Given the description of an element on the screen output the (x, y) to click on. 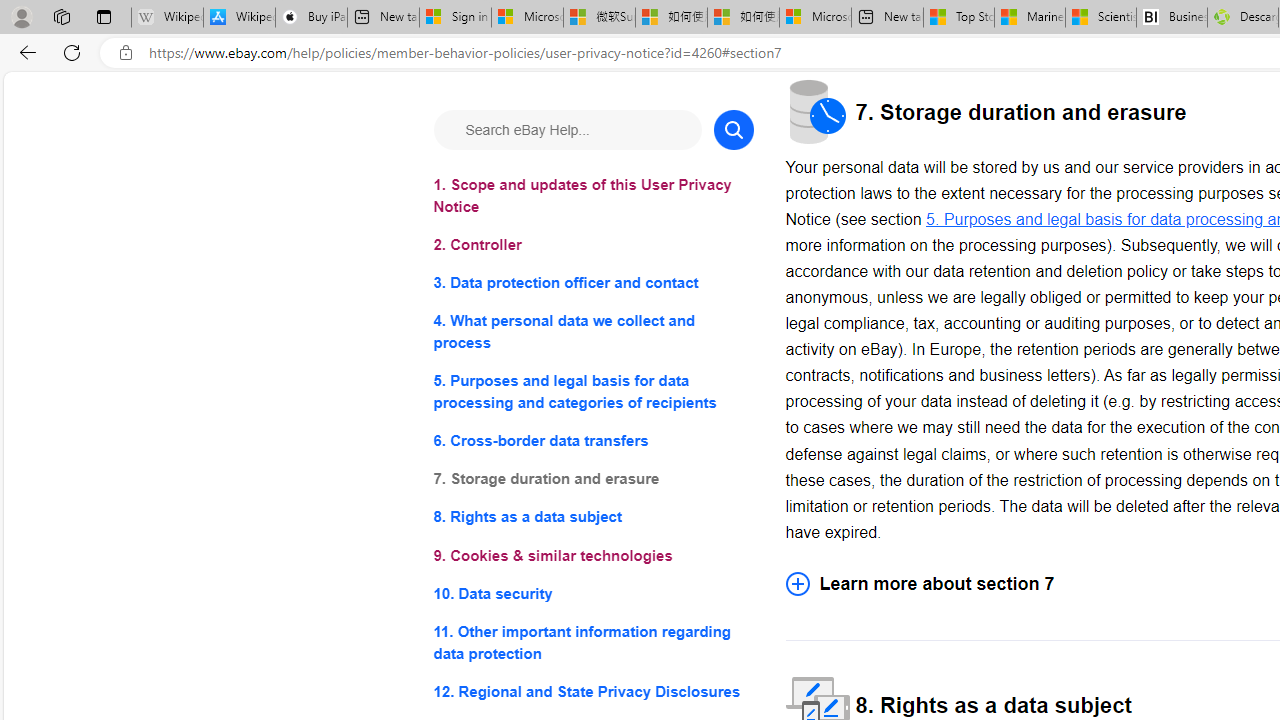
12. Regional and State Privacy Disclosures (592, 690)
10. Data security (592, 592)
6. Cross-border data transfers (592, 440)
7. Storage duration and erasure (592, 479)
11. Other important information regarding data protection (592, 642)
3. Data protection officer and contact (592, 283)
6. Cross-border data transfers (592, 440)
4. What personal data we collect and process (592, 332)
2. Controller (592, 245)
